Given the description of an element on the screen output the (x, y) to click on. 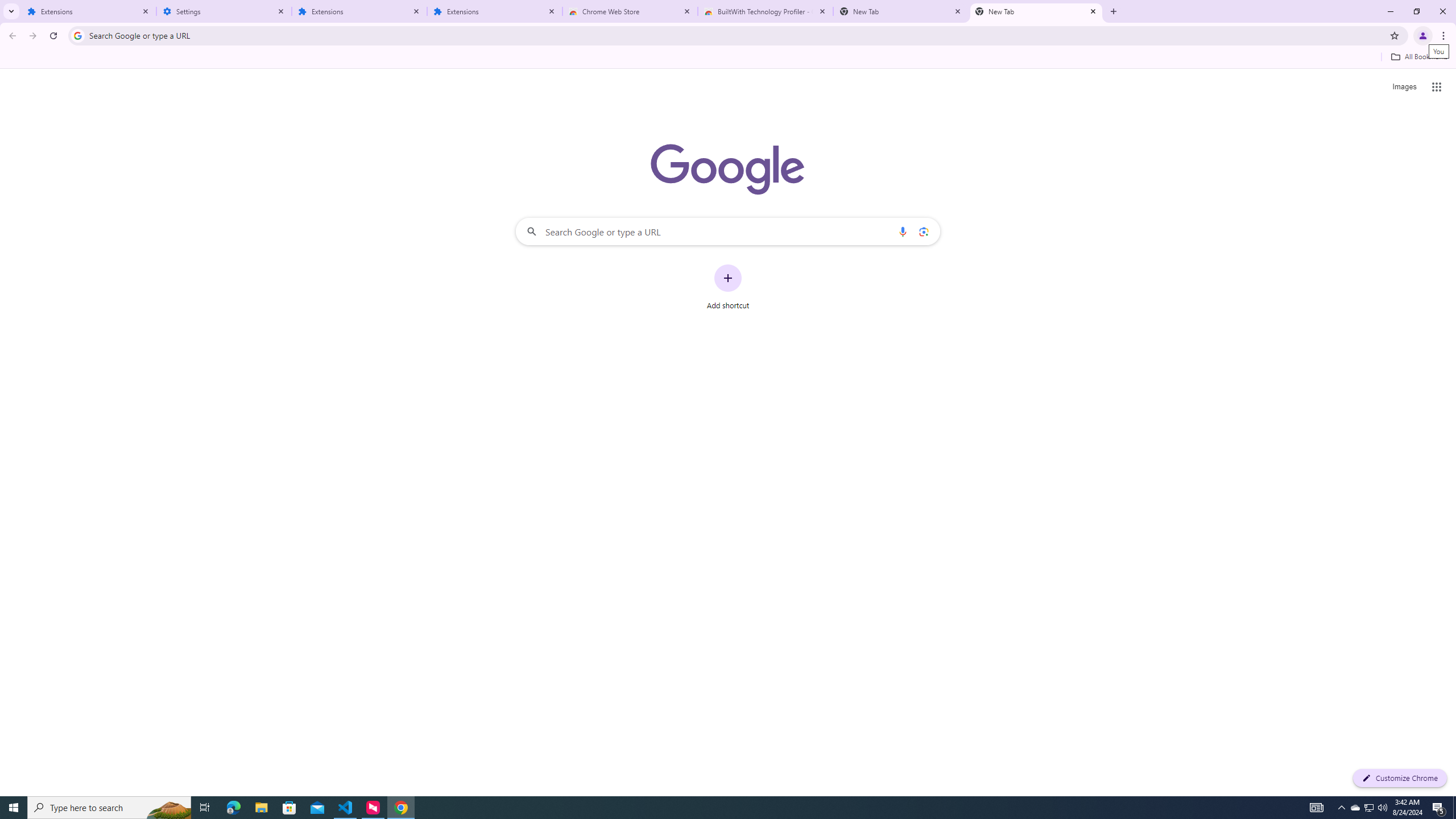
Search by image (922, 230)
Customize Chrome (1399, 778)
Search Google or type a URL (727, 230)
Address and search bar (735, 35)
BuiltWith Technology Profiler - Chrome Web Store (765, 11)
Bookmarks (728, 58)
Google apps (1436, 86)
